Given the description of an element on the screen output the (x, y) to click on. 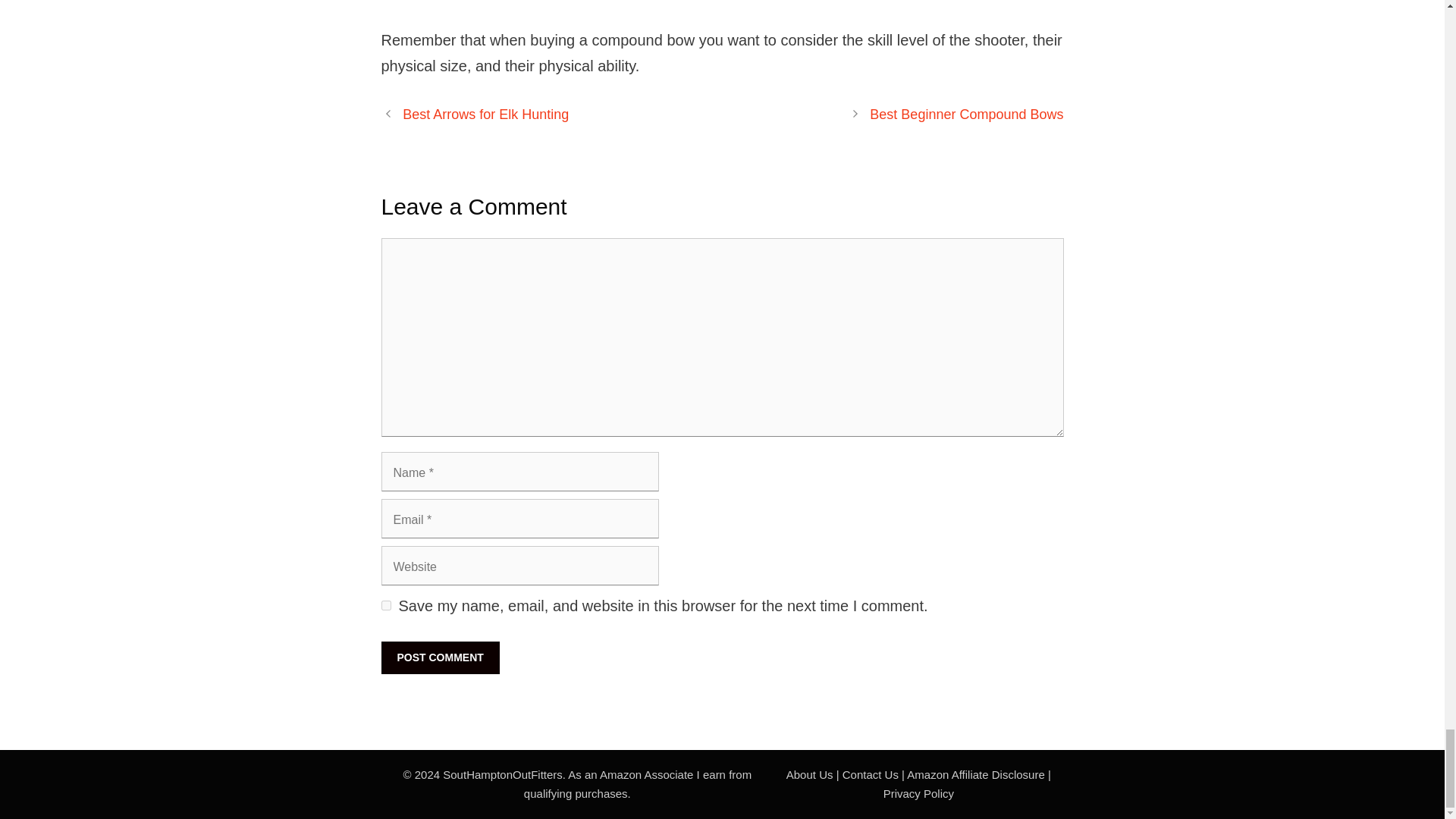
Best Arrows for Elk Hunting (486, 114)
Amazon Affiliate Disclosure (975, 774)
Post Comment (439, 657)
Post Comment (439, 657)
Next (965, 114)
Contact Us (870, 774)
Previous (486, 114)
About Us (809, 774)
Best Beginner Compound Bows (965, 114)
yes (385, 605)
